Given the description of an element on the screen output the (x, y) to click on. 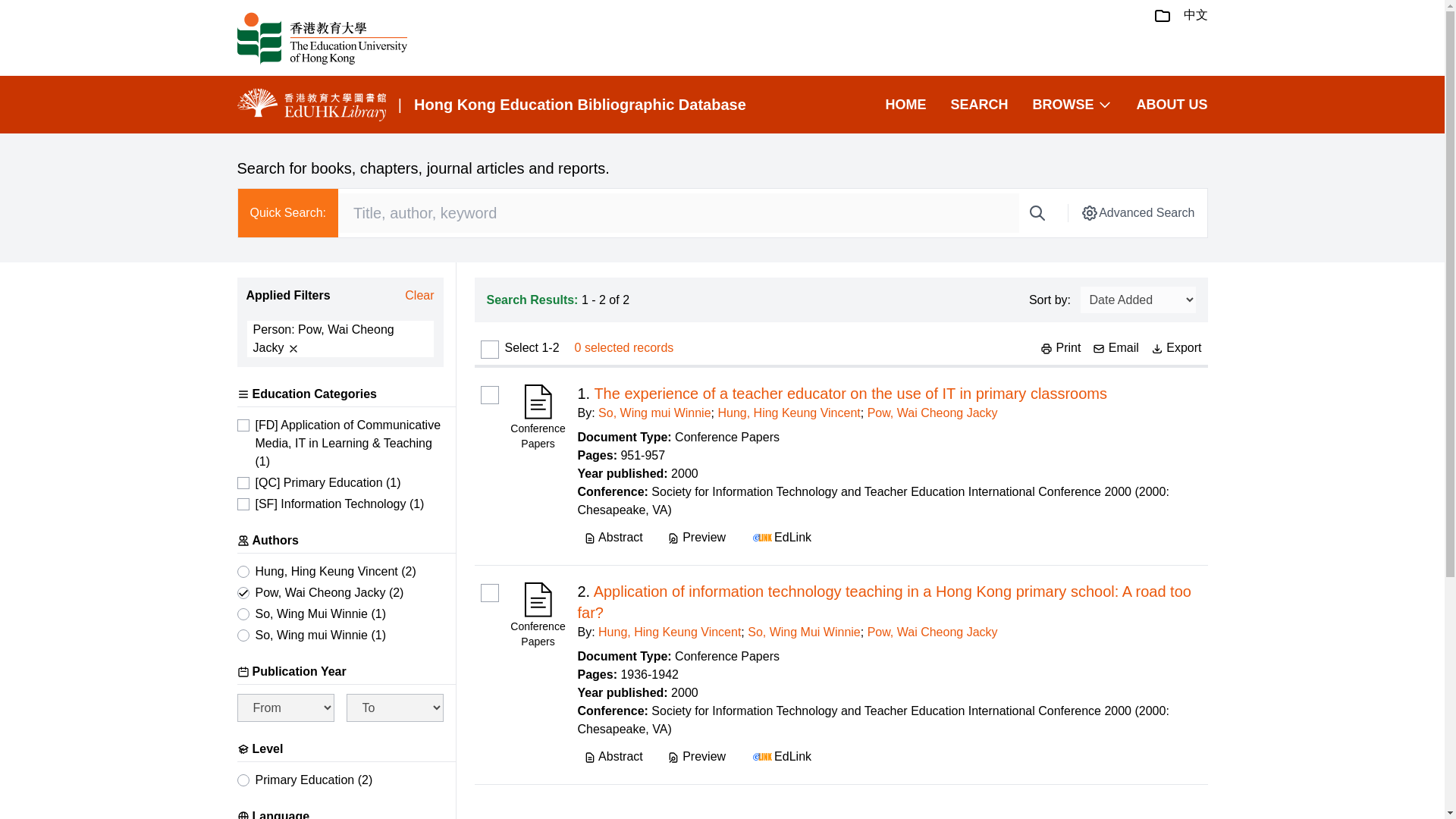
Email (1115, 348)
Clear (418, 295)
ABOUT US (1171, 104)
HOME (905, 104)
Advanced Search (1136, 212)
Hong Kong Education Bibliographic Database (579, 104)
So, Wing mui Winnie (654, 412)
Export (1176, 348)
Preview (696, 537)
Hung, Hing Keung Vincent (788, 412)
BROWSE (1072, 104)
Pow, Wai Cheong Jacky (932, 412)
Abstract (613, 537)
EdLink (780, 537)
SEARCH (978, 104)
